Given the description of an element on the screen output the (x, y) to click on. 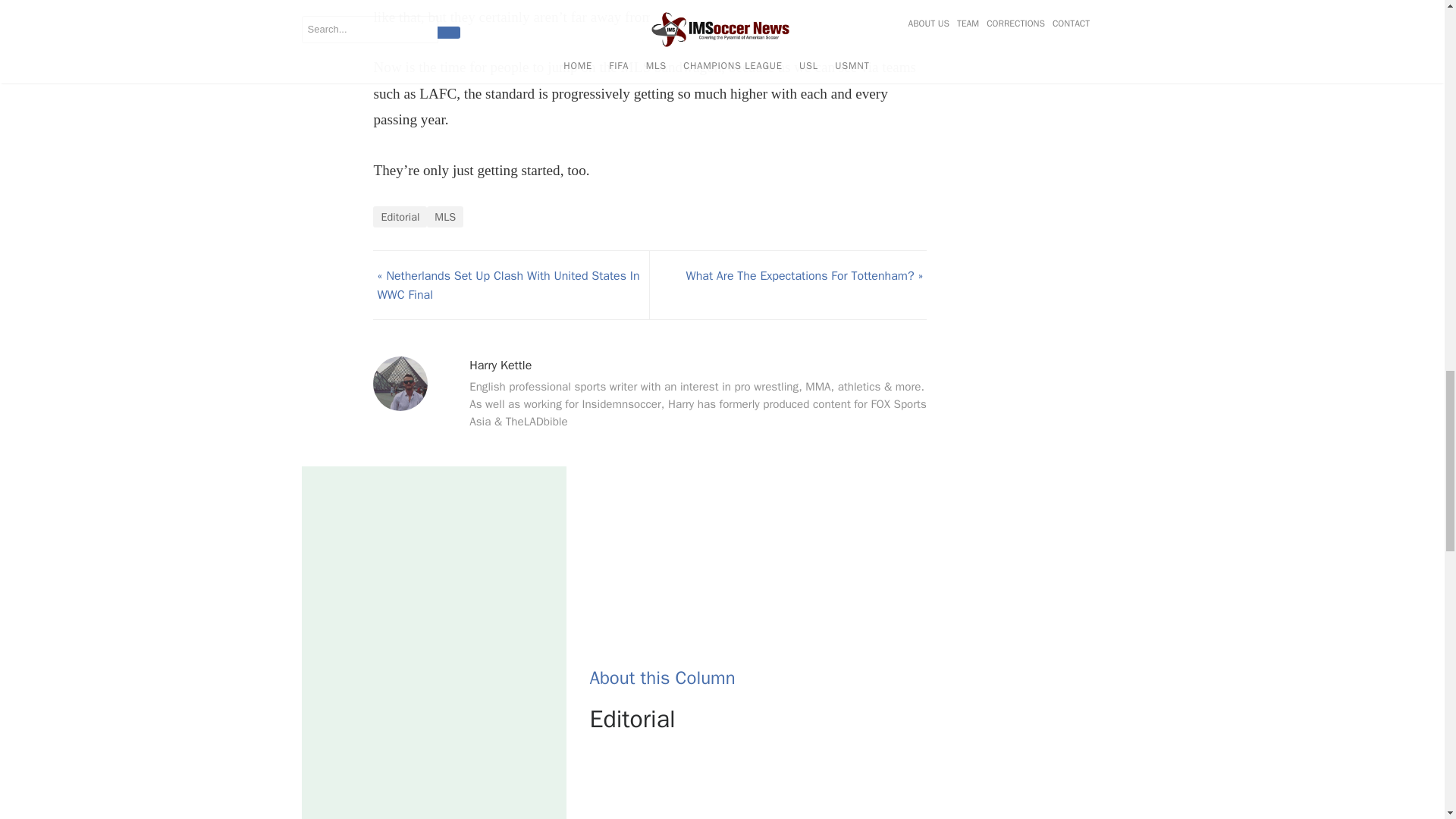
MLS (444, 216)
Editorial (399, 216)
Harry Kettle (499, 365)
